Given the description of an element on the screen output the (x, y) to click on. 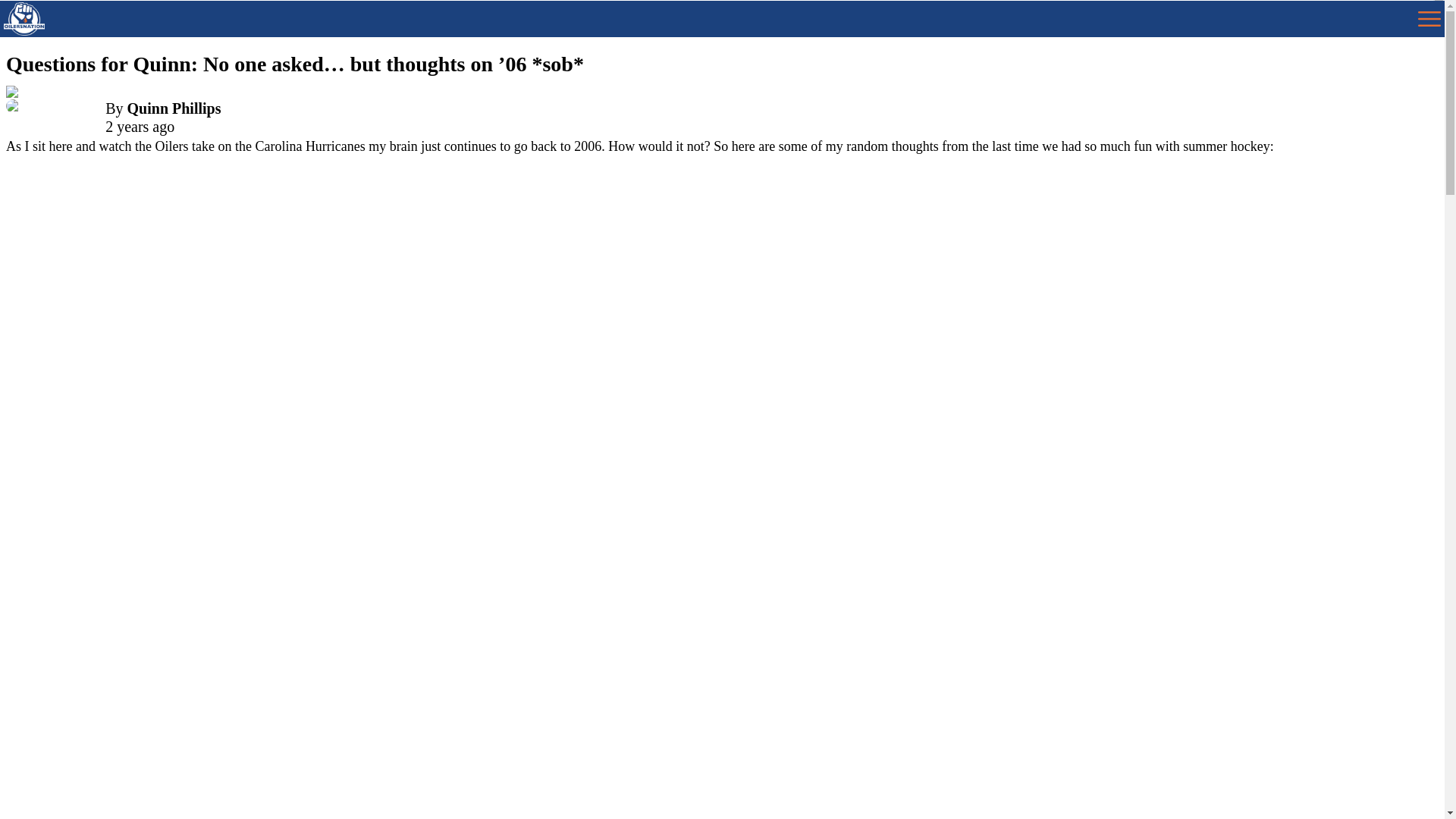
Quinn Phillips (174, 108)
